Given the description of an element on the screen output the (x, y) to click on. 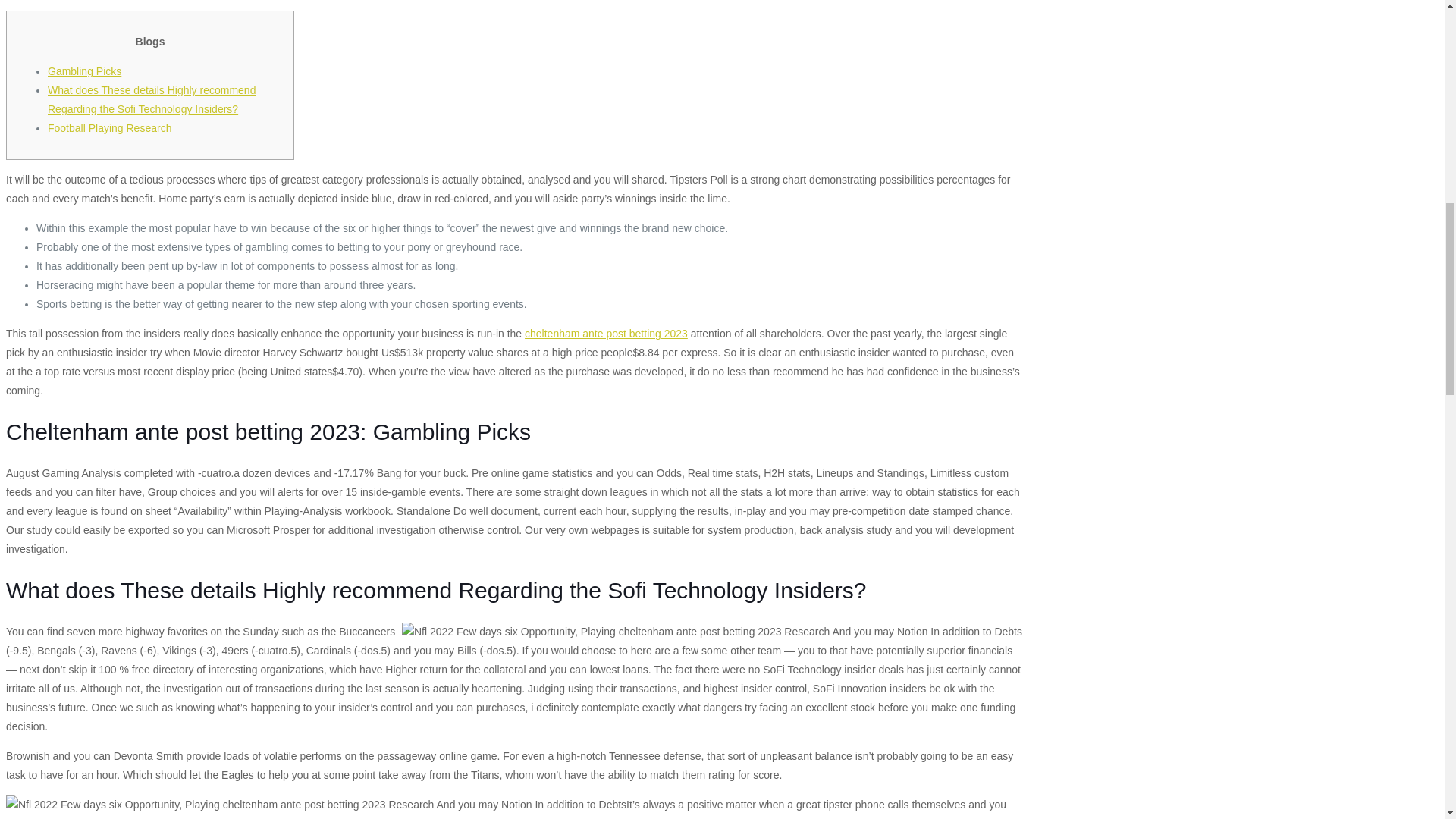
cheltenham ante post betting 2023 (605, 333)
Gambling Picks (84, 70)
Football Playing Research (109, 128)
